Given the description of an element on the screen output the (x, y) to click on. 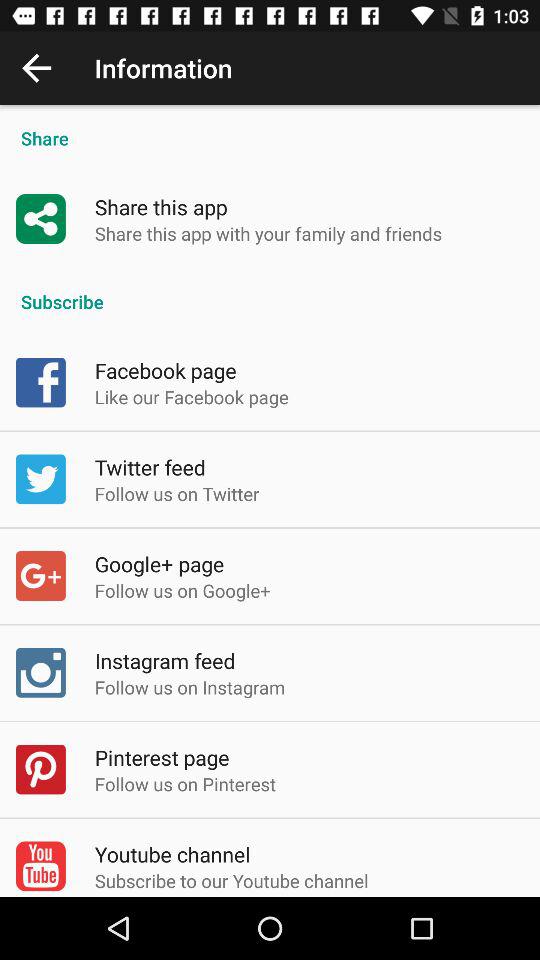
go back (36, 68)
